Given the description of an element on the screen output the (x, y) to click on. 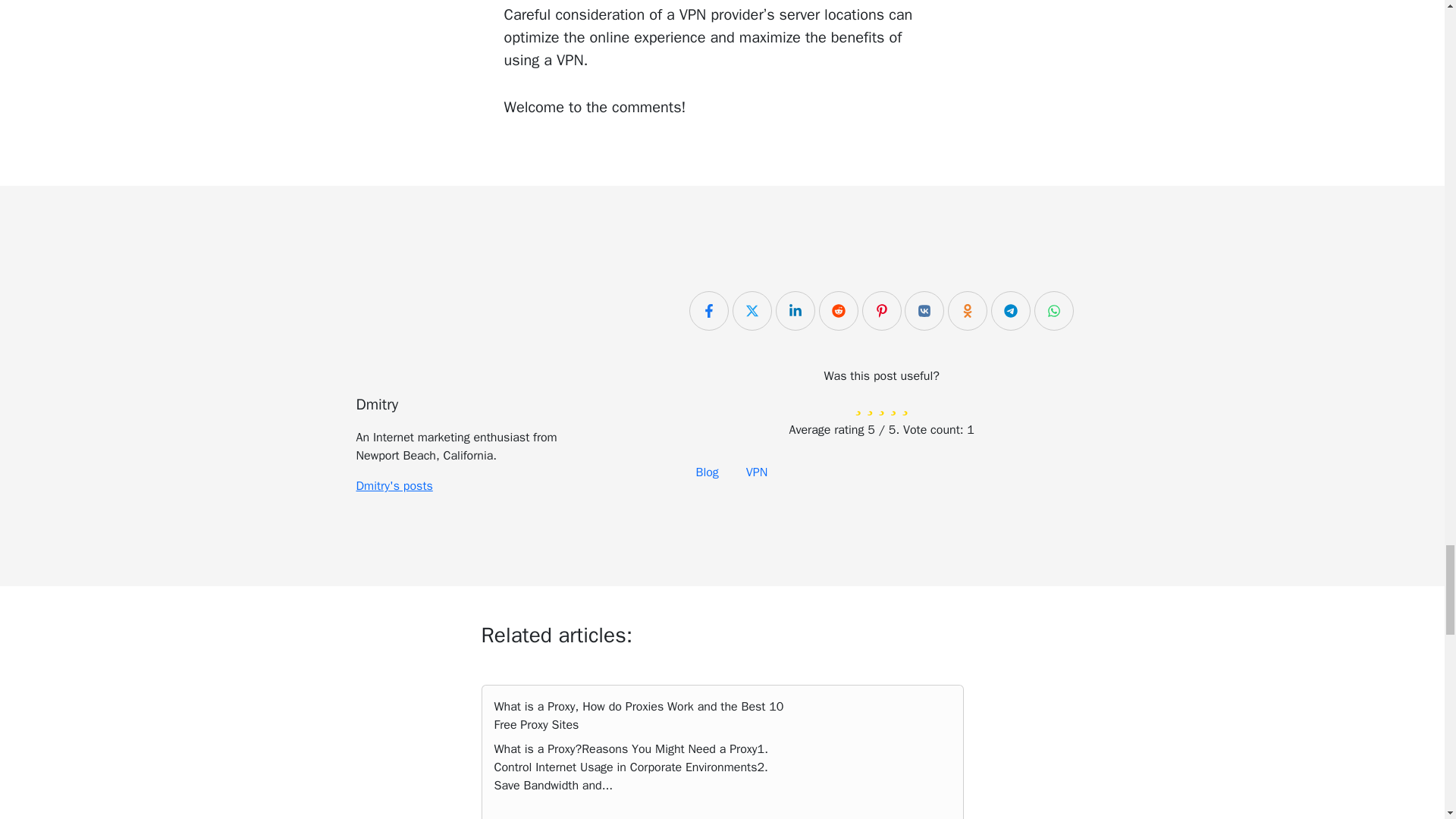
Dmitry's posts (394, 485)
VPN (756, 472)
Blog (706, 472)
